Given the description of an element on the screen output the (x, y) to click on. 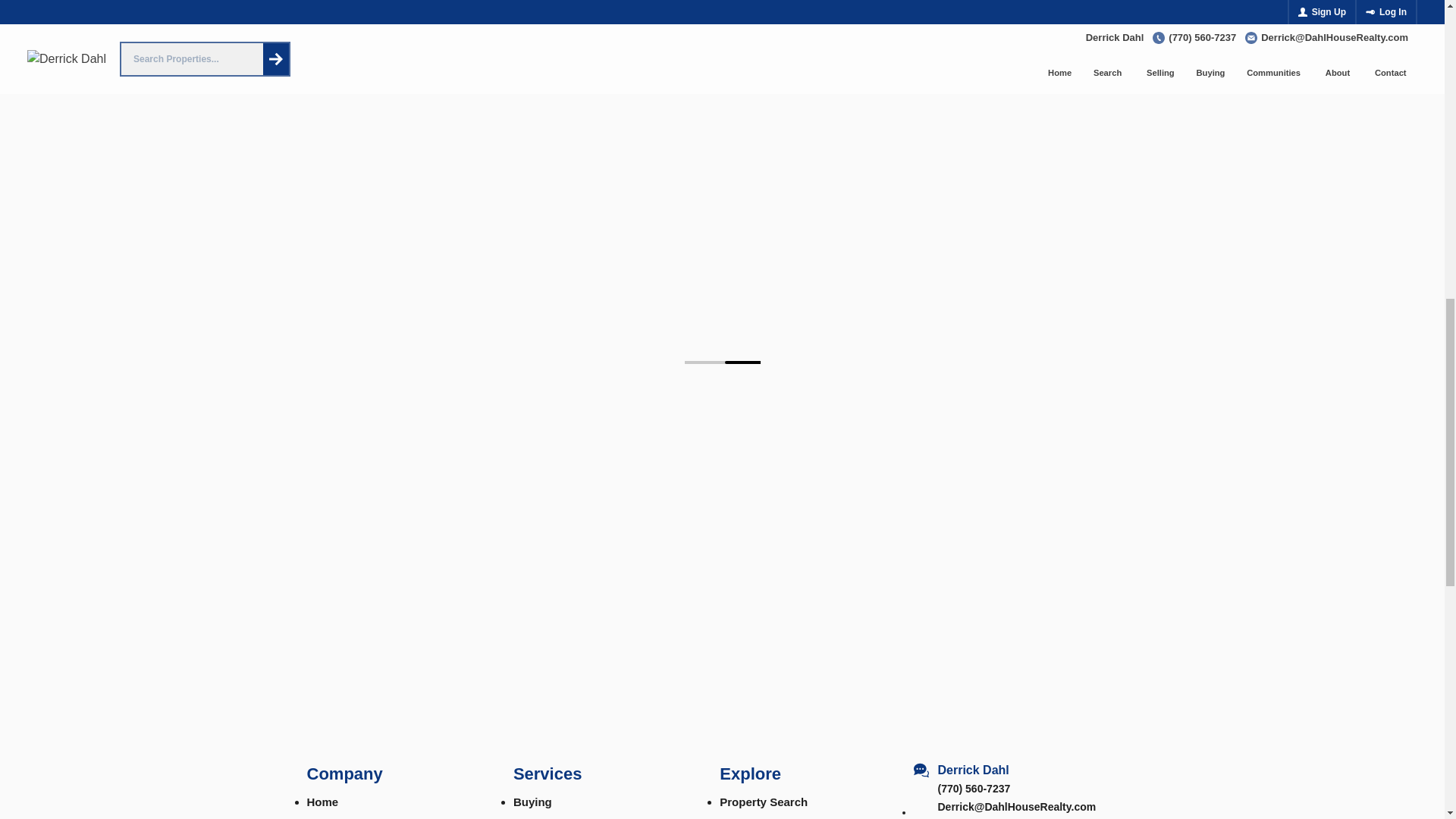
Buying (609, 802)
Home (402, 802)
About (402, 816)
Company (402, 773)
Services (609, 773)
Derrick Dahl (1016, 770)
